Given the description of an element on the screen output the (x, y) to click on. 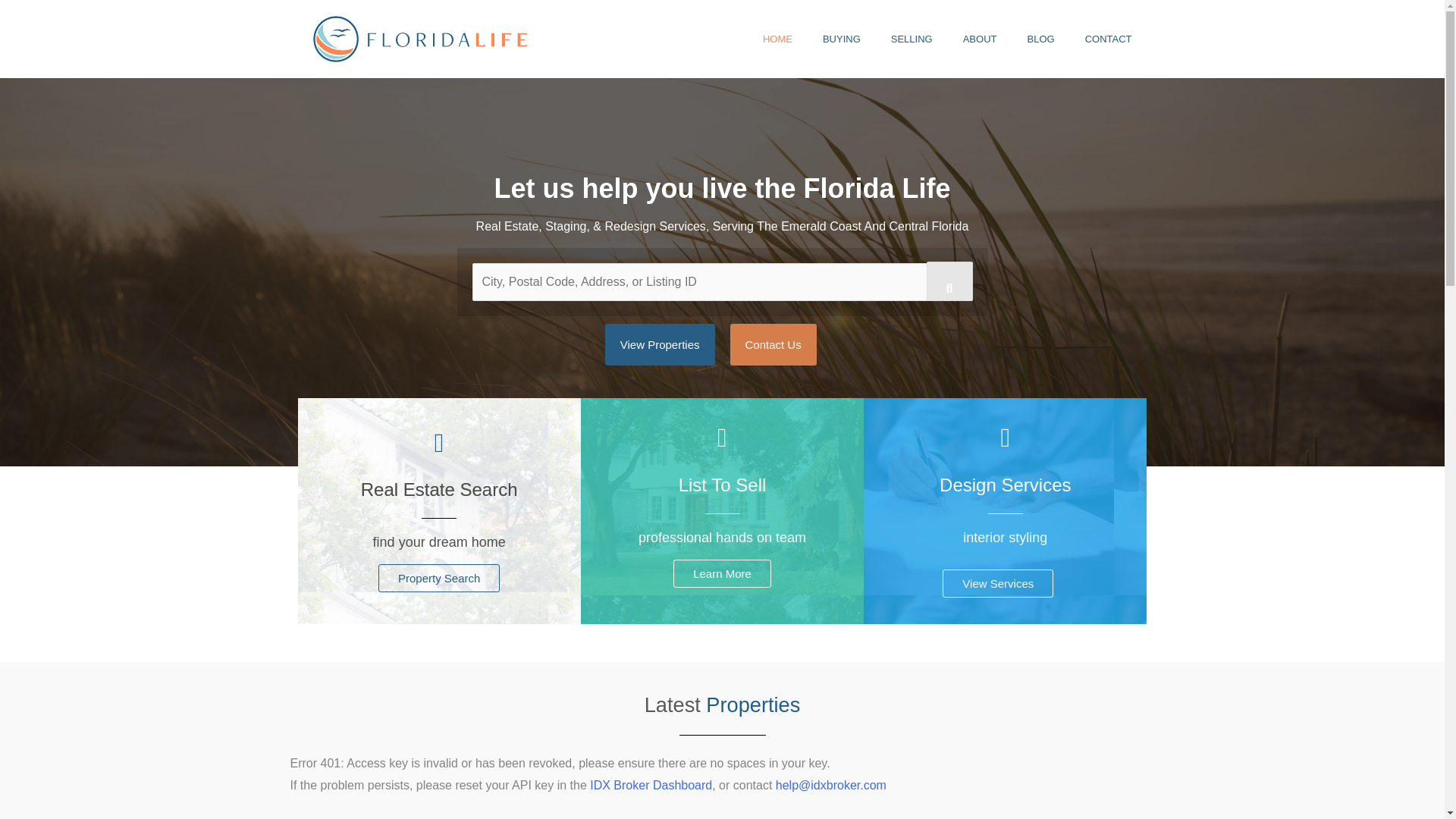
ABOUT (979, 38)
View Services (997, 583)
CONTACT (1108, 38)
Contact Us (772, 344)
HOME (778, 38)
Search (949, 281)
Property Search (438, 578)
Learn More (721, 573)
SELLING (911, 38)
View Properties (659, 344)
